Given the description of an element on the screen output the (x, y) to click on. 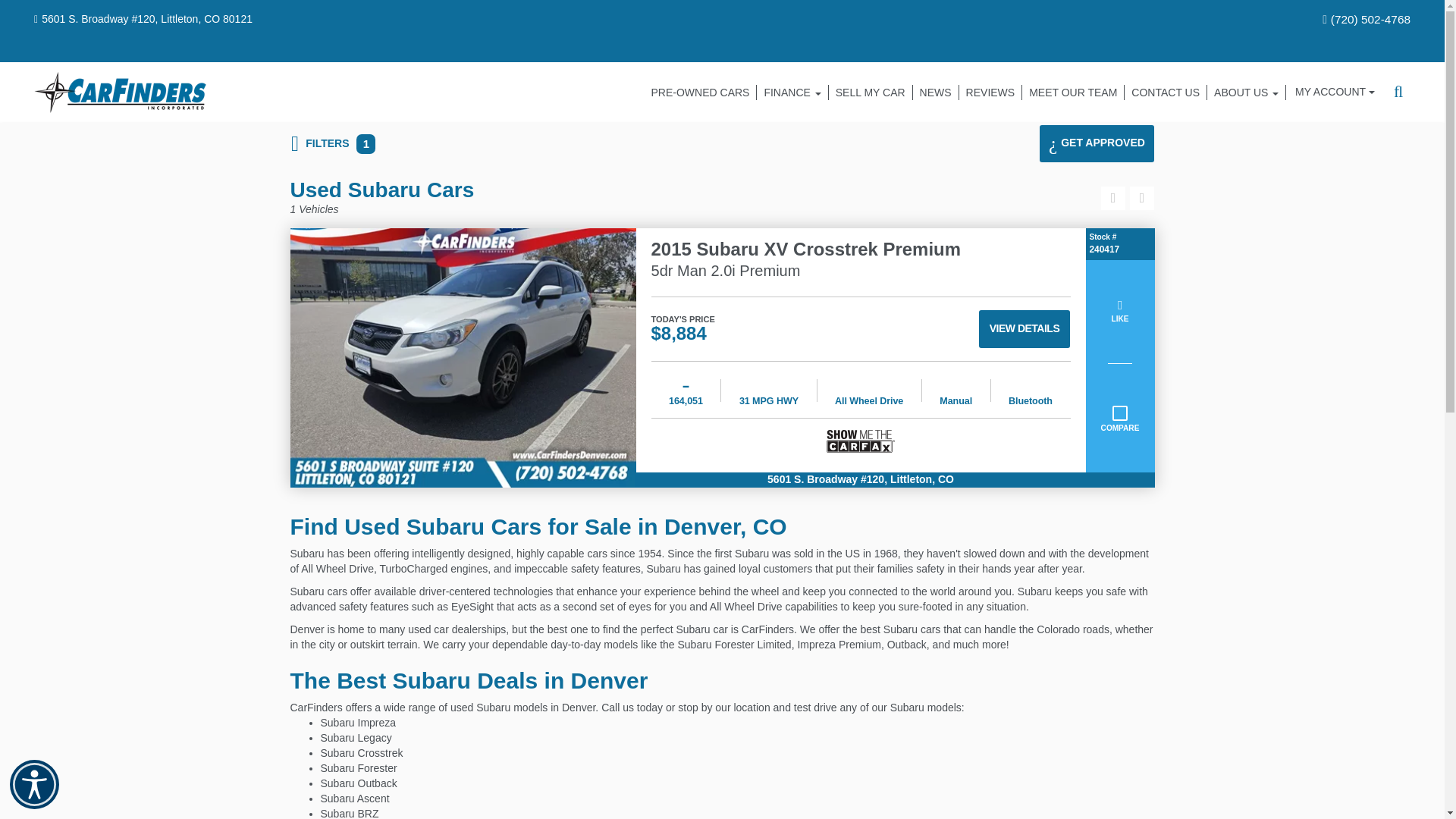
Click here to view Reviews (991, 92)
Click here to Finance Your Car (792, 92)
Click here to Contact Us (1165, 92)
Click here to visit News Section (935, 92)
FINANCE (792, 92)
NEWS (935, 92)
SELL MY CAR (870, 92)
Click here to view Pre-Owned Cars (701, 92)
REVIEWS (991, 92)
CONTACT US (1165, 92)
